Given the description of an element on the screen output the (x, y) to click on. 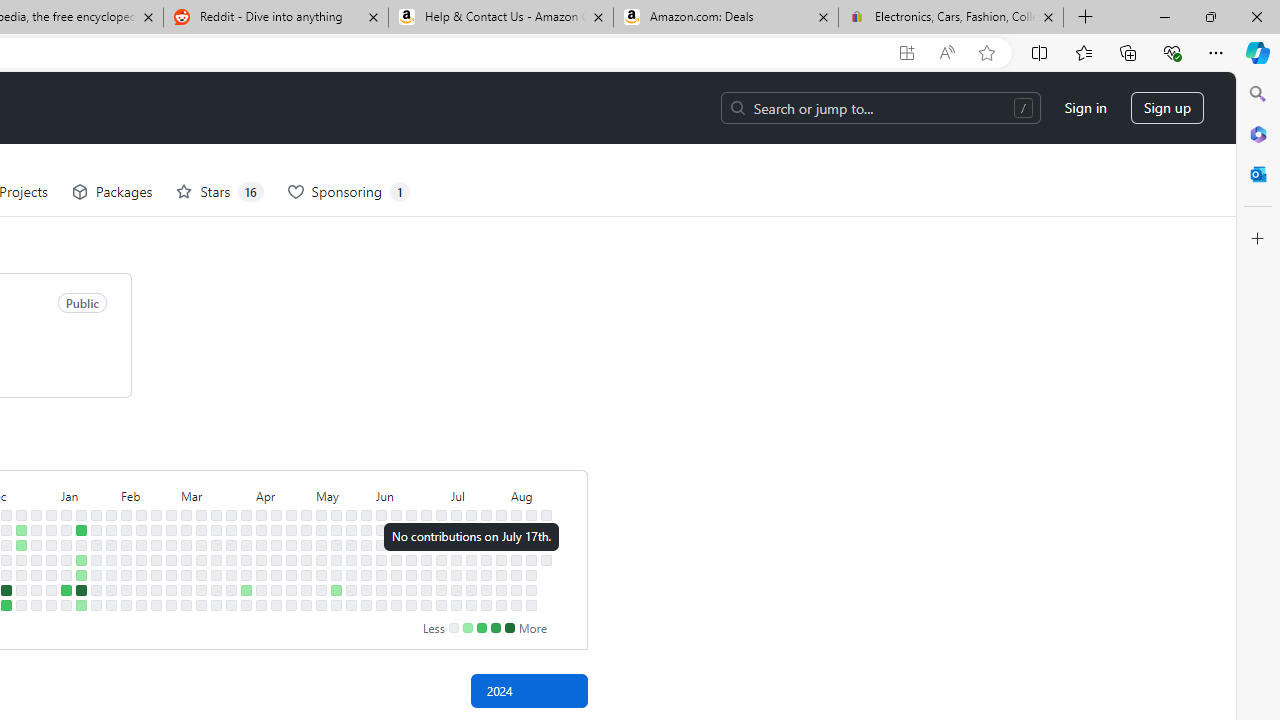
No contributions on July 23rd. (486, 544)
No contributions on April 23rd. (290, 544)
No contributions on December 25th. (36, 529)
6 contributions on December 15th. (6, 589)
No contributions on June 22nd. (411, 605)
No contributions on June 21st. (411, 589)
August (530, 493)
No contributions on August 2nd. (501, 589)
No contributions on January 2nd. (51, 544)
No contributions on August 18th. (546, 515)
No contributions on December 14th. (6, 574)
No contributions on June 23rd. (426, 515)
No contributions on May 6th. (321, 529)
No contributions on April 3rd. (246, 559)
